Given the description of an element on the screen output the (x, y) to click on. 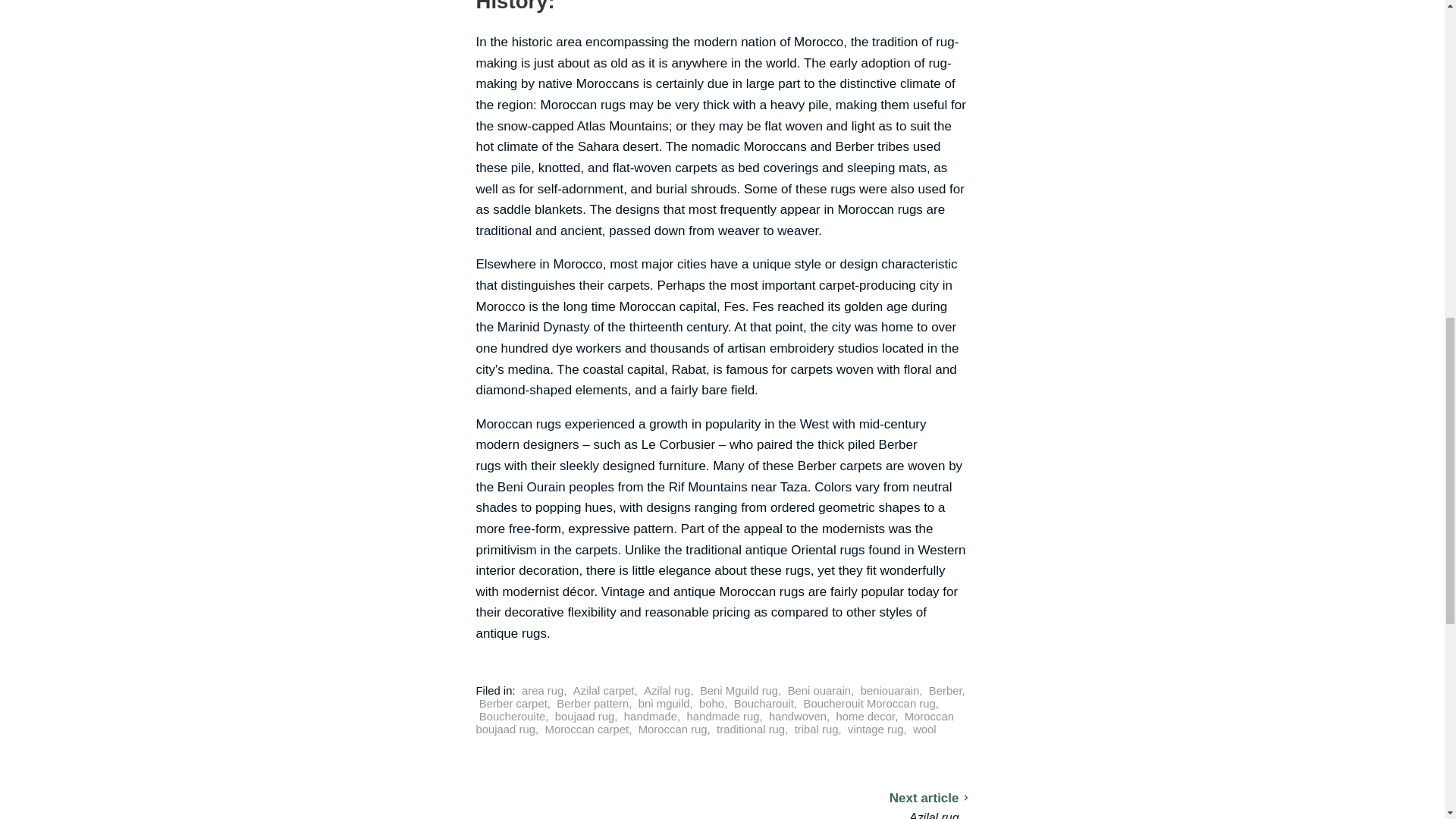
Show articles tagged Beni ouarain (818, 690)
Show articles tagged home decor (865, 716)
Show articles tagged Azilal carpet (603, 690)
Show articles tagged Azilal rug (666, 690)
Show articles tagged Boucherouite (512, 716)
Show articles tagged boho (710, 703)
Show articles tagged boujaad rug (584, 716)
Show articles tagged handwoven (797, 716)
Show articles tagged Boucherouit Moroccan rug (868, 703)
Show articles tagged Berber carpet (513, 703)
